Given the description of an element on the screen output the (x, y) to click on. 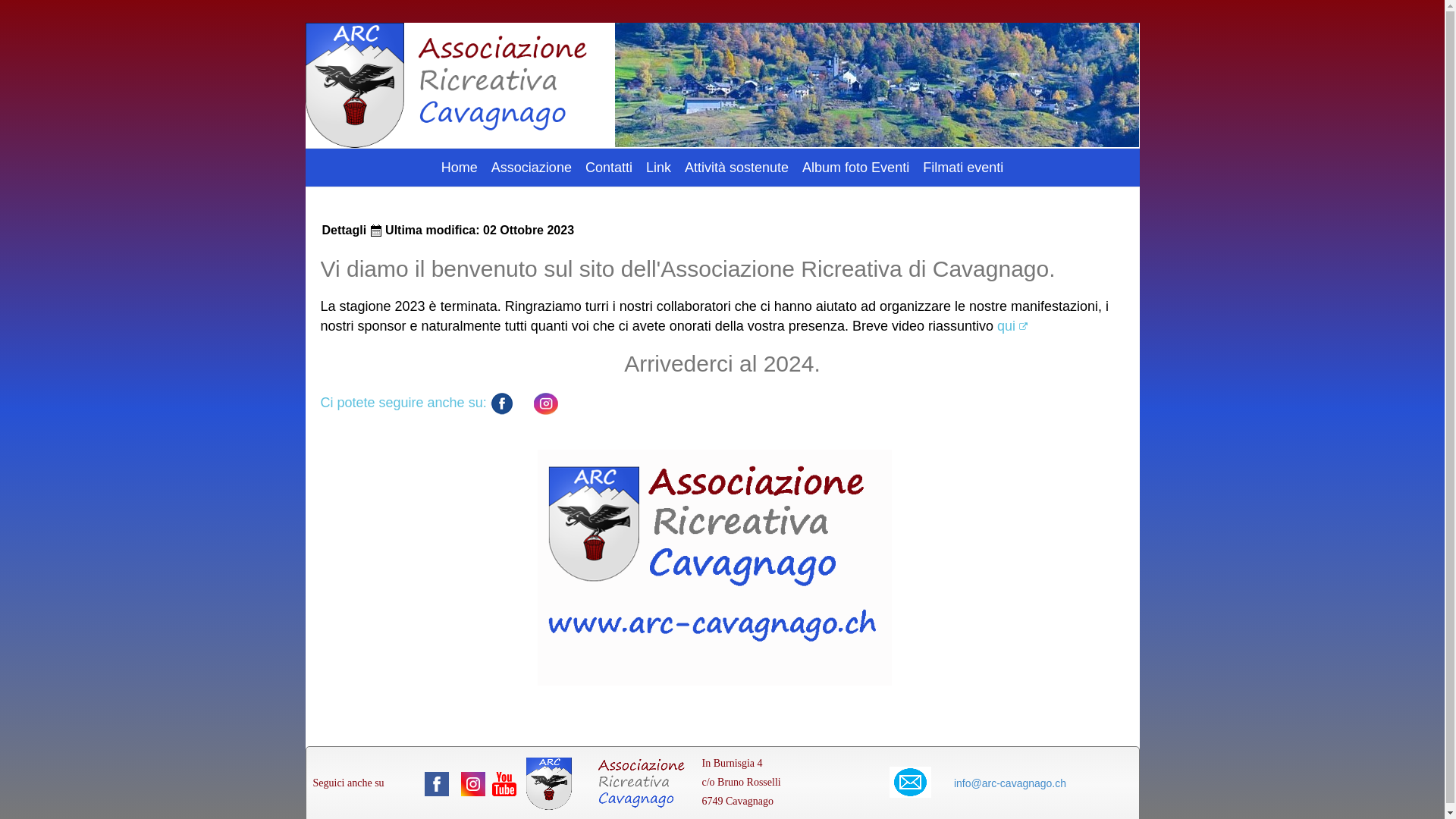
Contatti Element type: text (608, 167)
Home Element type: text (459, 167)
Album foto Eventi Element type: text (855, 167)
Filmati eventi Element type: text (962, 167)
info@arc-cavagnago.ch Element type: text (1009, 783)
Link Element type: text (658, 167)
qui Element type: text (1012, 325)
Associazione Element type: text (531, 167)
